Given the description of an element on the screen output the (x, y) to click on. 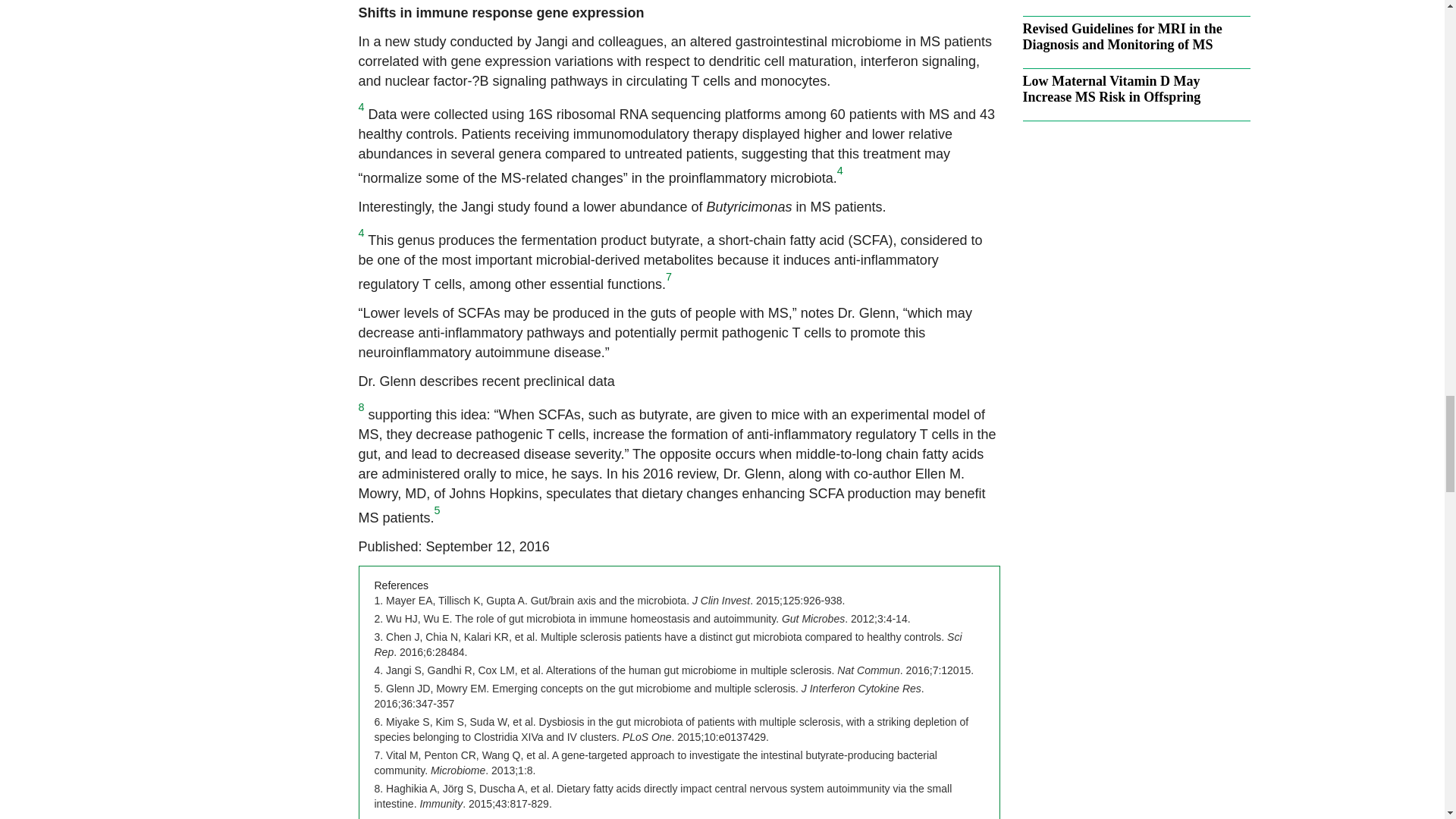
Opens in a new tab or window (649, 696)
Opens in a new tab or window (668, 644)
Opens in a new tab or window (642, 618)
Opens in a new tab or window (655, 762)
Opens in a new tab or window (674, 670)
Opens in a new tab or window (609, 600)
Opens in a new tab or window (671, 728)
Opens in a new tab or window (663, 795)
